Given the description of an element on the screen output the (x, y) to click on. 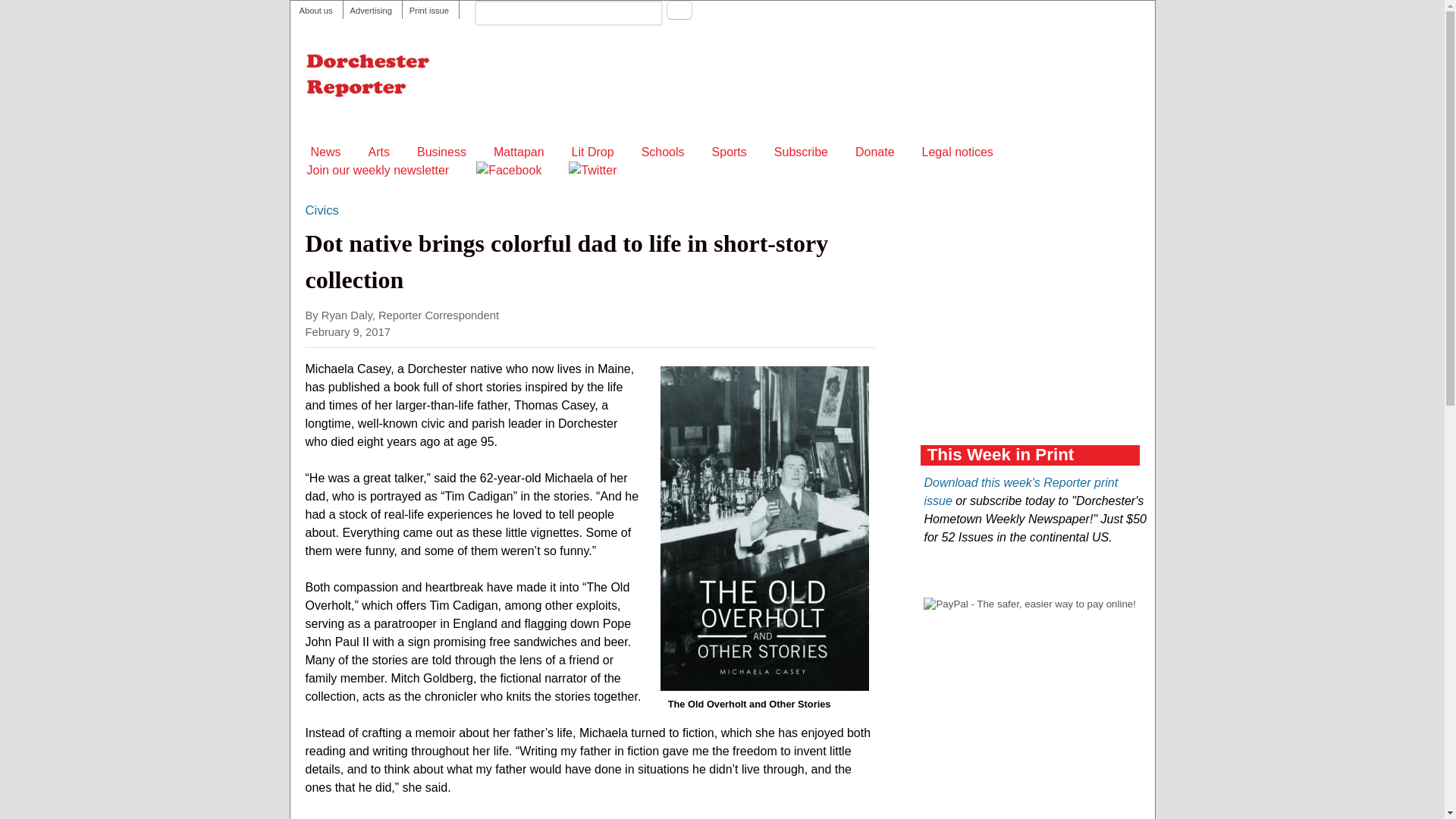
Print issue (428, 10)
Download this week's Reporter print issue (1020, 490)
Legal notices (956, 152)
Civics (320, 210)
Donate (874, 152)
Advertising (371, 10)
Subscribe (801, 152)
Dorchester Reporter weekly print issue (428, 10)
News (325, 152)
3rd party ad content (775, 82)
